Given the description of an element on the screen output the (x, y) to click on. 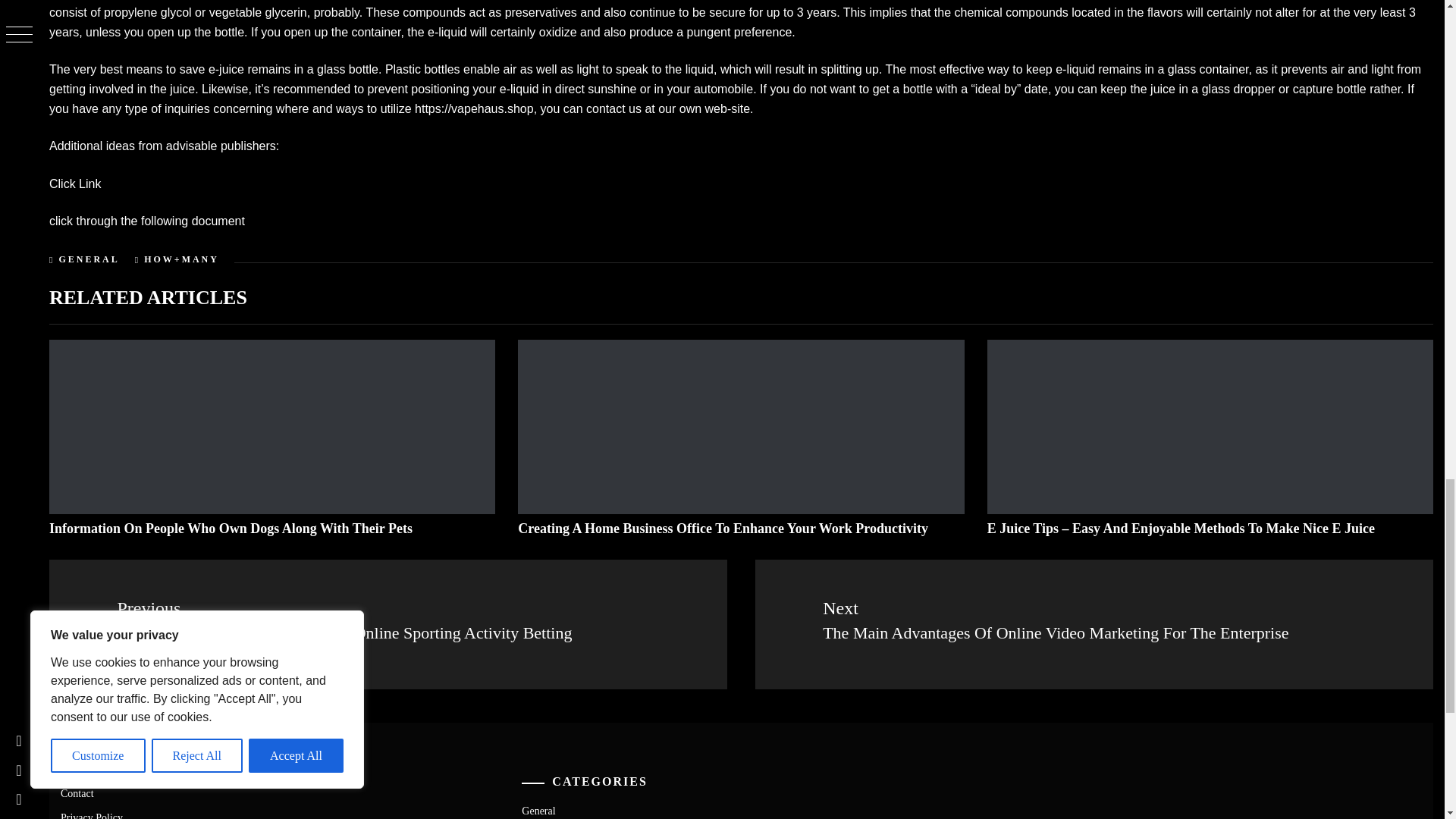
click through the following document (146, 220)
Click Link (74, 183)
GENERAL (88, 258)
Information On People Who Own Dogs Along With Their Pets (230, 528)
